Given the description of an element on the screen output the (x, y) to click on. 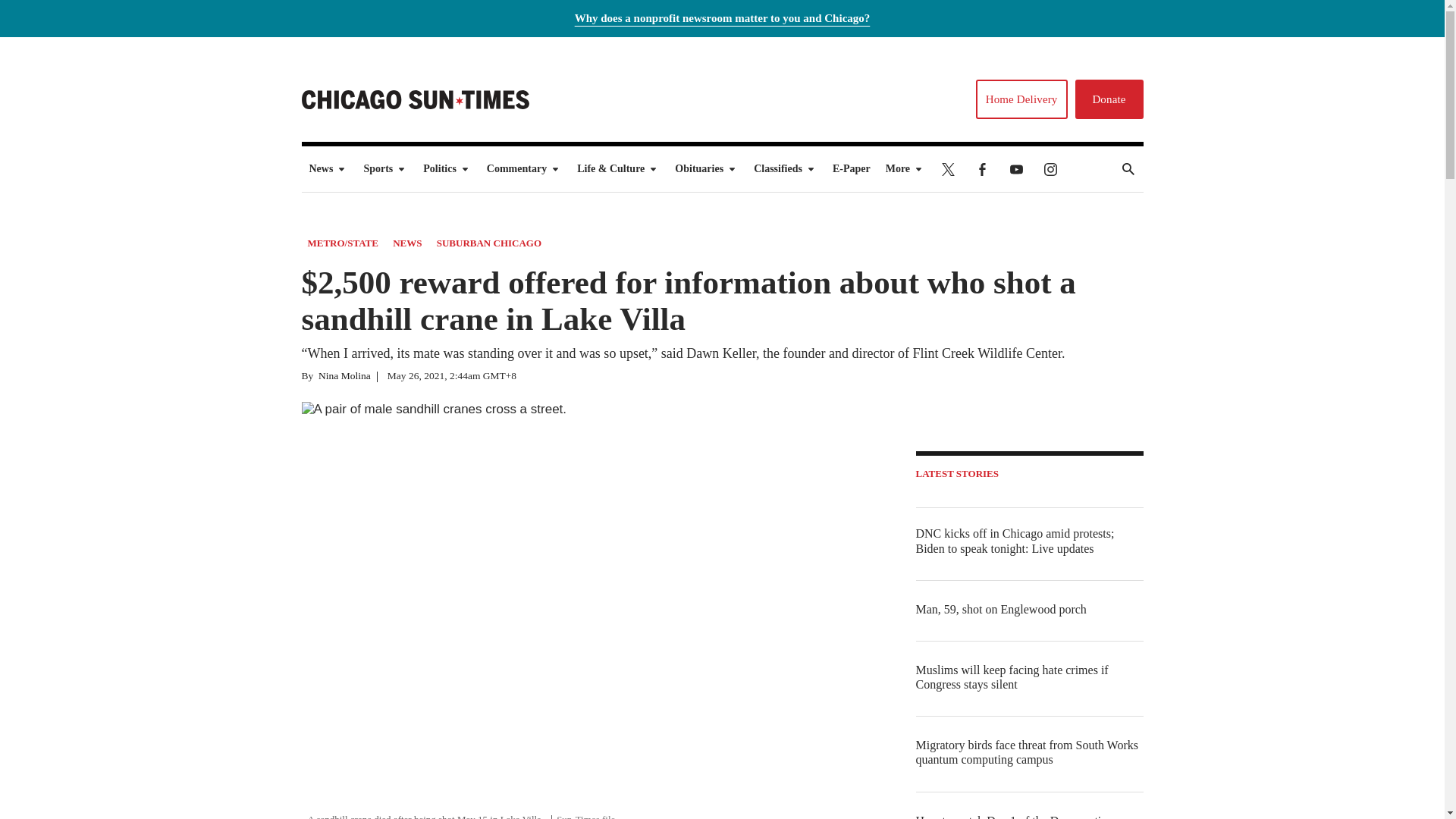
Donate (1108, 98)
Why does a nonprofit newsroom matter to you and Chicago? (722, 18)
Home Delivery (1021, 98)
